Given the description of an element on the screen output the (x, y) to click on. 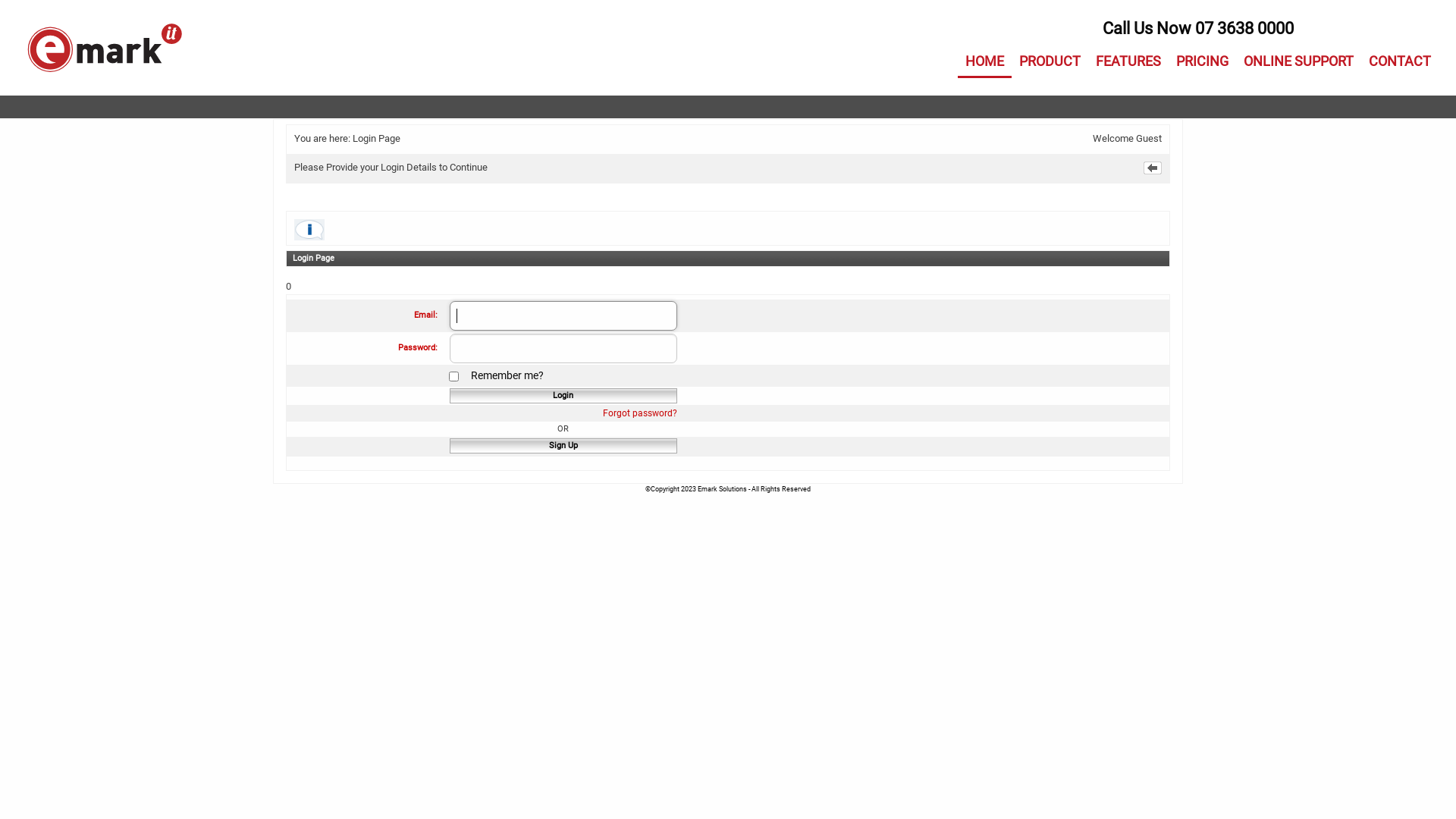
CONTACT Element type: text (1399, 62)
Sign Up Element type: text (563, 445)
Login Element type: text (563, 395)
ONLINE SUPPORT Element type: text (1298, 62)
FEATURES Element type: text (1128, 62)
Click to Go Back to the Previous Page Element type: hover (1151, 167)
PRICING Element type: text (1202, 62)
Register a New Account Element type: hover (563, 445)
07 3638 0000 Element type: text (1244, 27)
HOME Element type: text (984, 62)
PRODUCT Element type: text (1049, 62)
Forgot password? Element type: text (639, 412)
